Given the description of an element on the screen output the (x, y) to click on. 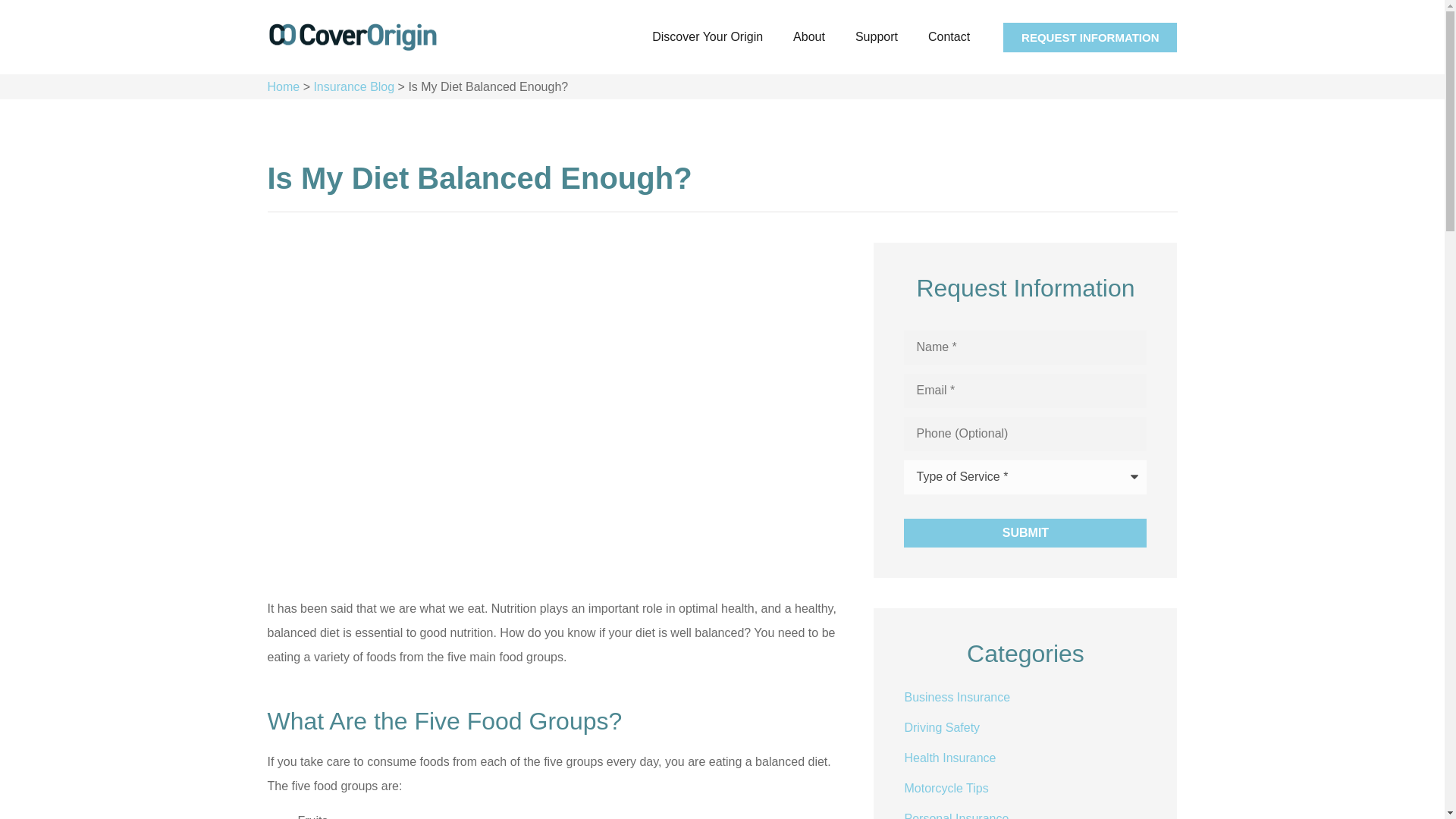
Contact (948, 36)
Discover Your Origin (707, 36)
Submit (1025, 532)
About (808, 36)
Support (876, 36)
logo2 (352, 37)
